Given the description of an element on the screen output the (x, y) to click on. 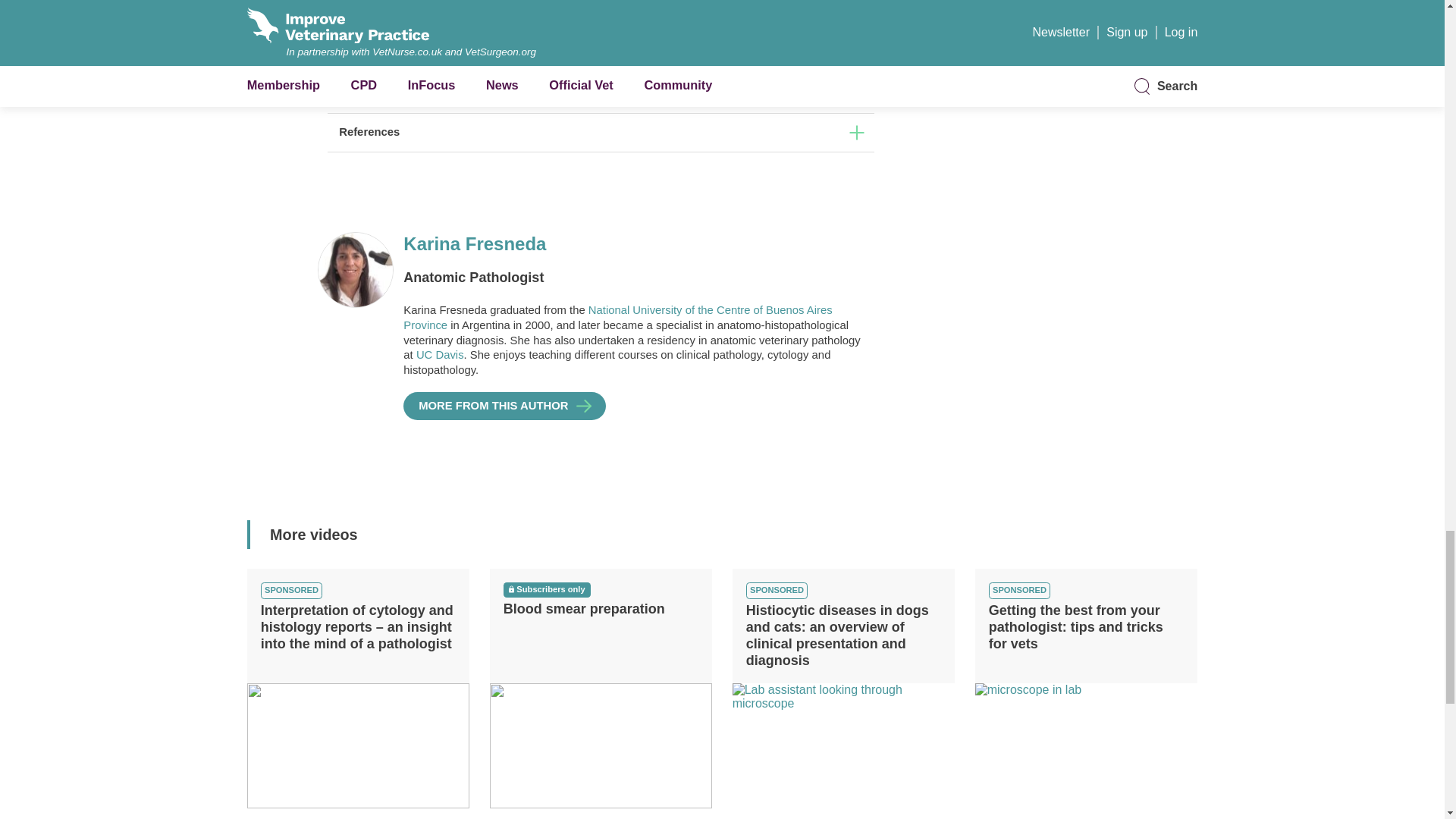
Karina Fresneda (633, 243)
Share on LinkedIn (451, 51)
Share via Email (475, 51)
Karina Fresneda (504, 406)
Share on Twitter (400, 51)
Share on Facebook (424, 51)
